Given the description of an element on the screen output the (x, y) to click on. 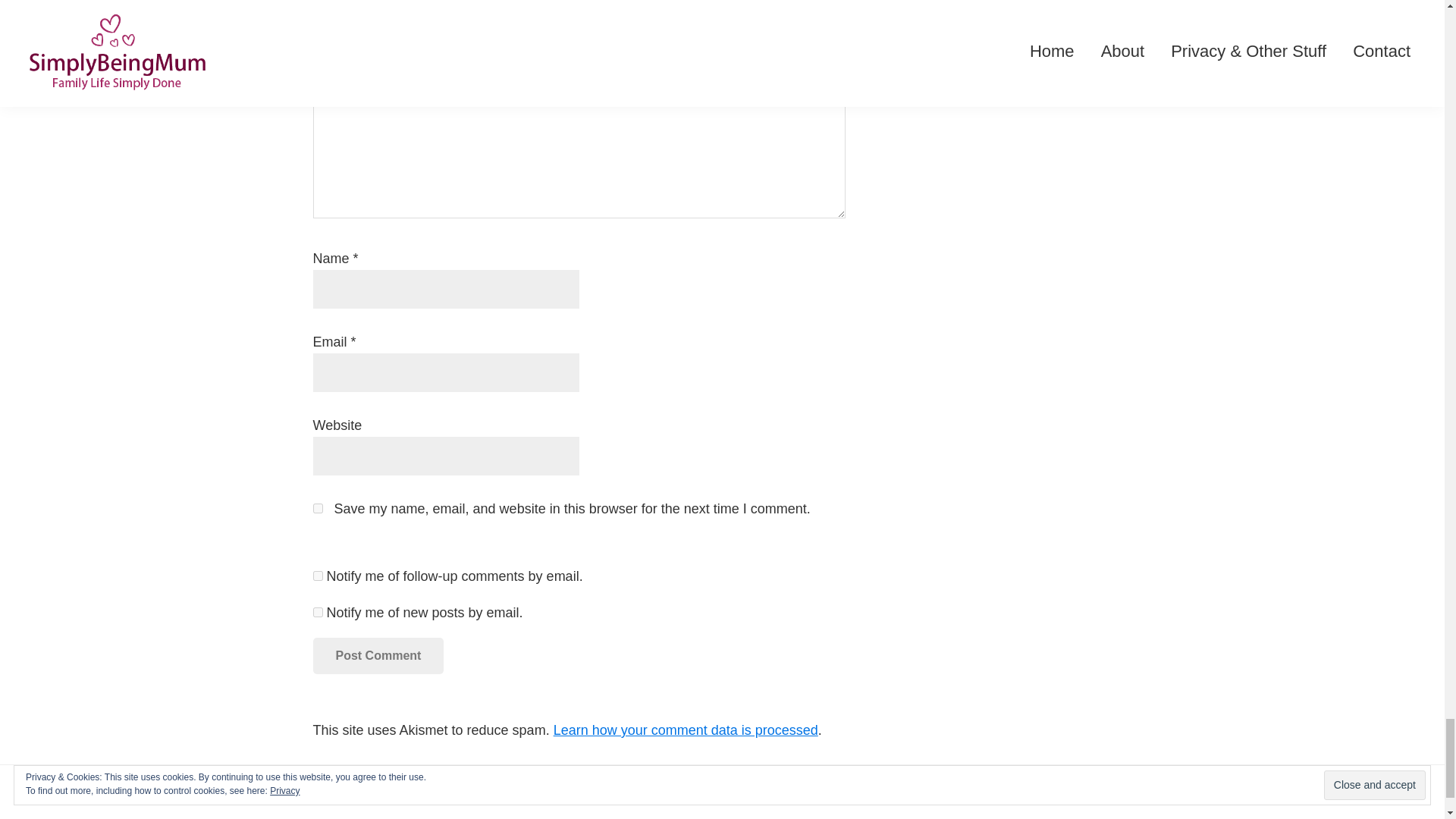
yes (317, 508)
Post Comment (378, 656)
subscribe (317, 611)
subscribe (317, 575)
